Given the description of an element on the screen output the (x, y) to click on. 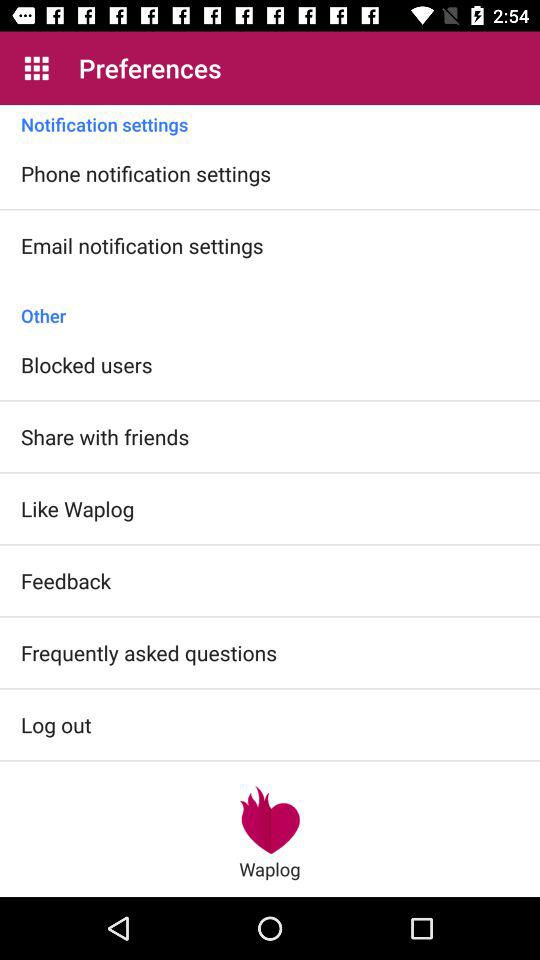
choose the icon above share with friends item (86, 364)
